Given the description of an element on the screen output the (x, y) to click on. 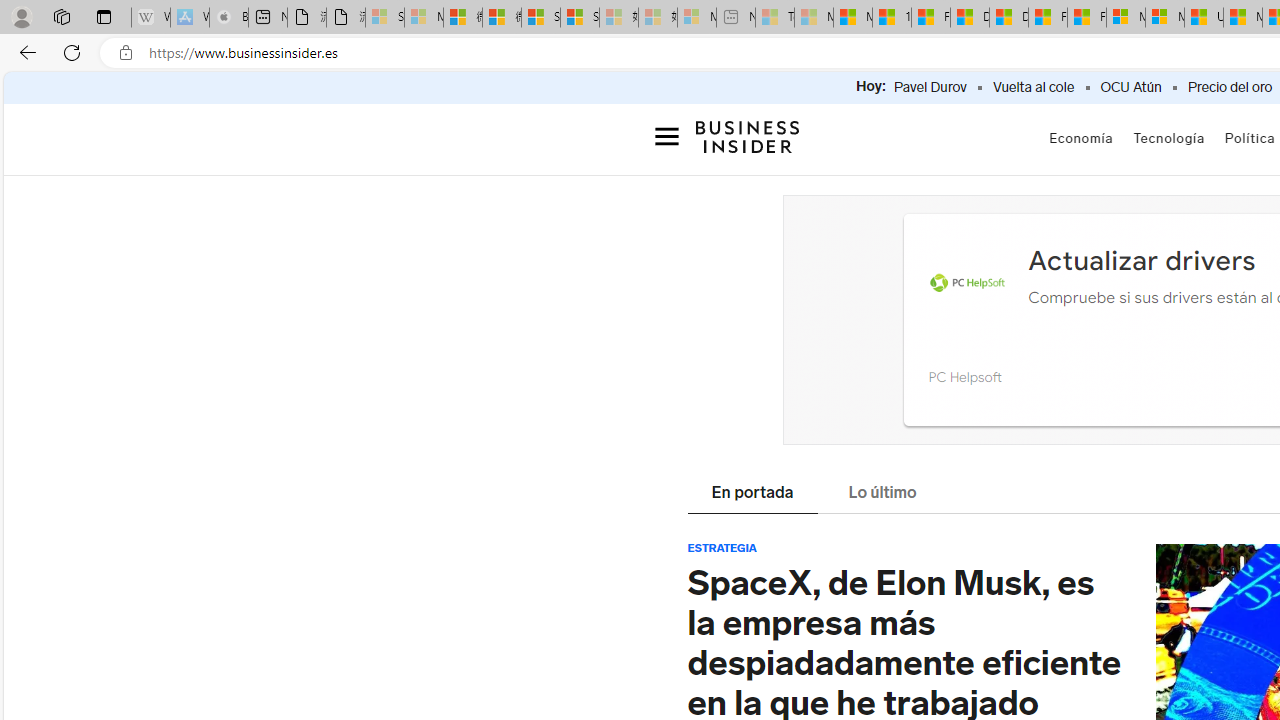
Wikipedia - Sleeping (150, 17)
Top Stories - MSN - Sleeping (774, 17)
Microsoft Services Agreement - Sleeping (423, 17)
Logo BusinessInsider.es (748, 142)
Sign in to your Microsoft account - Sleeping (385, 17)
US Heat Deaths Soared To Record High Last Year (1203, 17)
Precio del oro (1229, 88)
PC Helpsoft (967, 283)
Foo BAR | Trusted Community Engagement and Contributions (1086, 17)
Drinking tea every day is proven to delay biological aging (1008, 17)
